Given the description of an element on the screen output the (x, y) to click on. 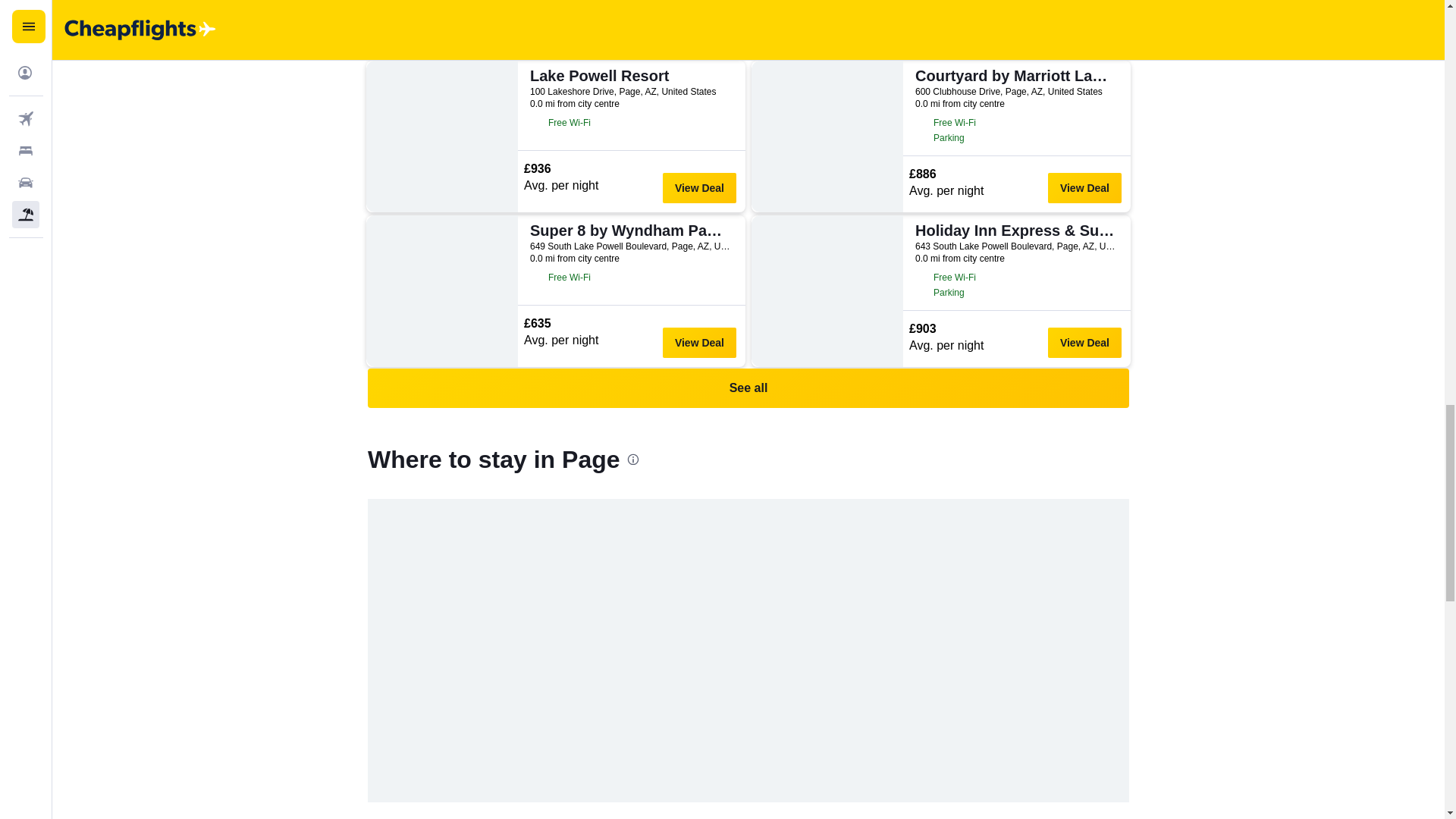
Lake Powell Resort (629, 75)
View Deal (699, 33)
View Deal (1084, 33)
View Deal (699, 187)
